Given the description of an element on the screen output the (x, y) to click on. 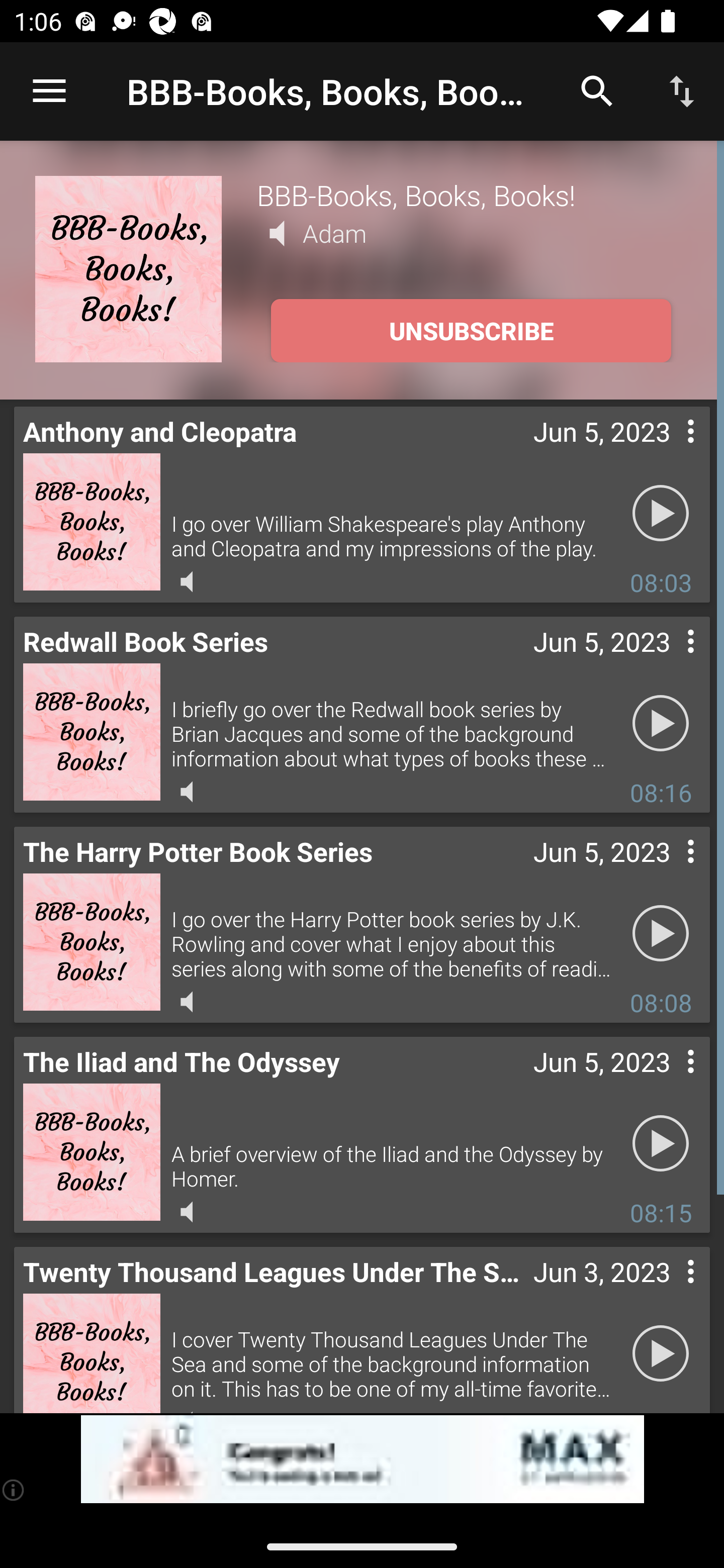
Open navigation sidebar (49, 91)
Search (597, 90)
Sort (681, 90)
UNSUBSCRIBE (470, 330)
Contextual menu (668, 451)
Play (660, 513)
Contextual menu (668, 661)
Play (660, 723)
Contextual menu (668, 870)
Play (660, 933)
Contextual menu (668, 1080)
Play (660, 1143)
Contextual menu (668, 1290)
Play (660, 1353)
app-monetization (362, 1459)
(i) (14, 1489)
